Given the description of an element on the screen output the (x, y) to click on. 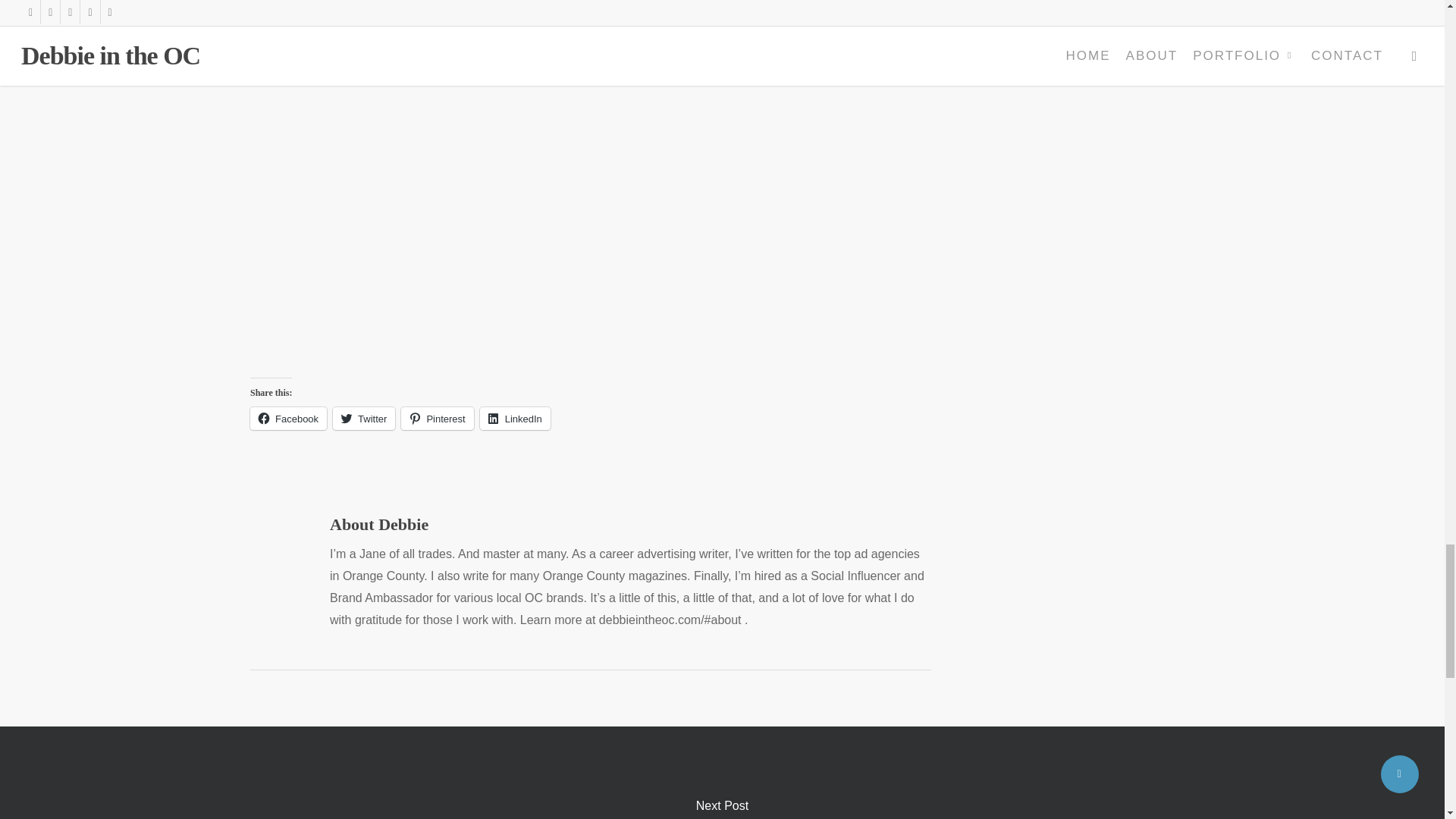
LinkedIn (515, 418)
Click to share on LinkedIn (515, 418)
Click to share on Twitter (363, 418)
Twitter (363, 418)
Facebook (288, 418)
Click to share on Facebook (288, 418)
Pinterest (437, 418)
Click to share on Pinterest (437, 418)
